Given the description of an element on the screen output the (x, y) to click on. 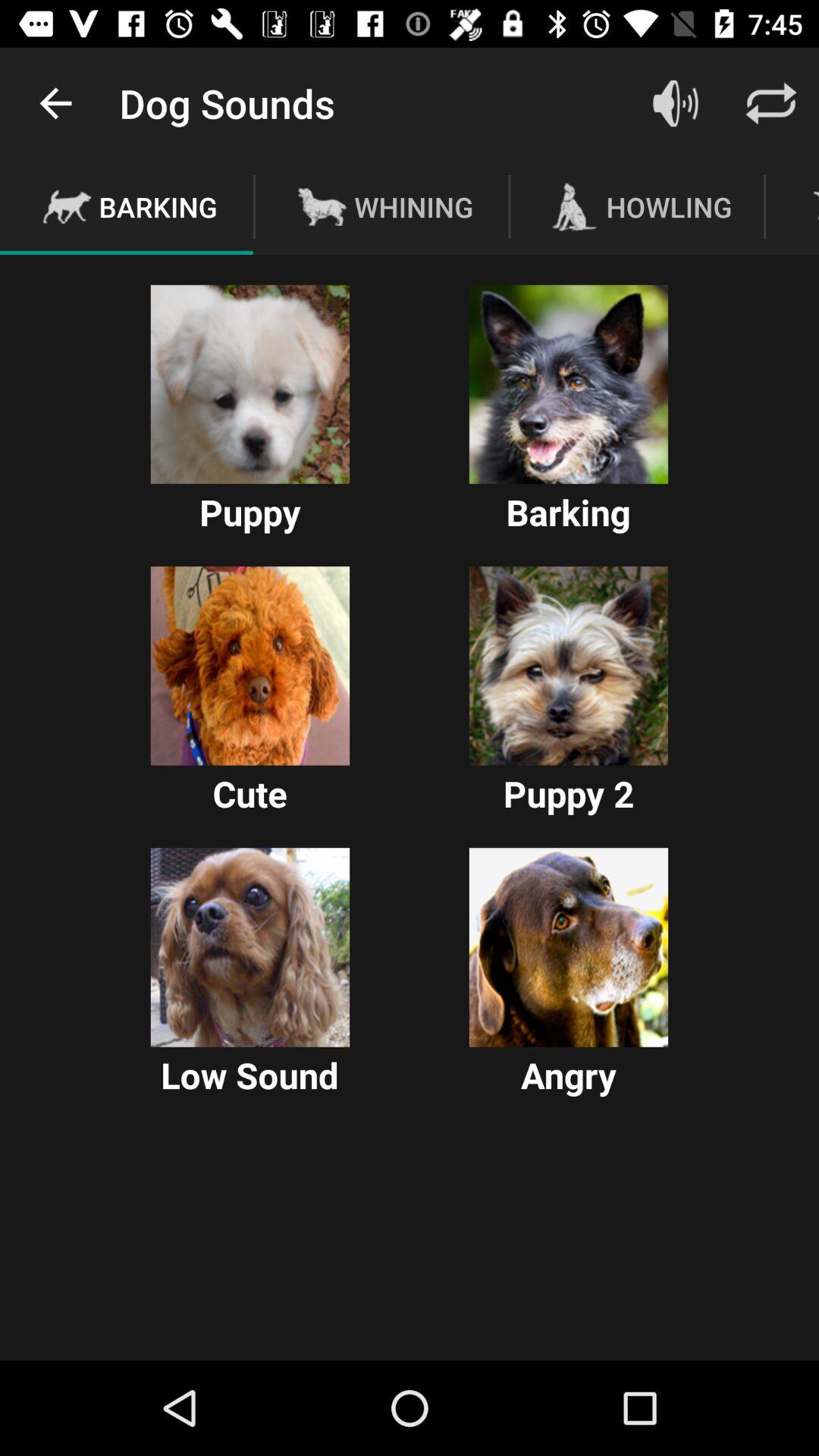
angry dog icon (568, 947)
